Given the description of an element on the screen output the (x, y) to click on. 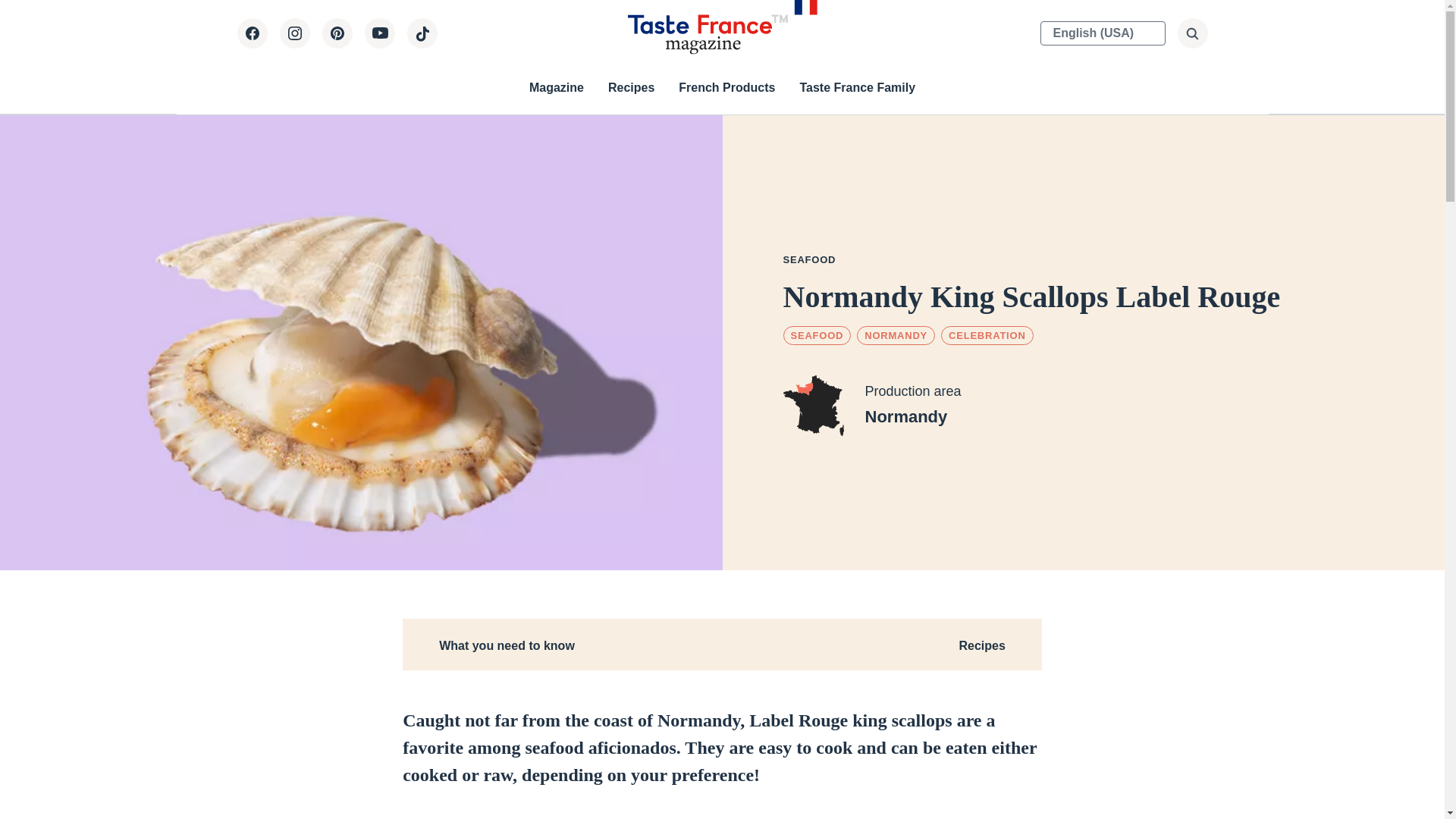
French Products (726, 87)
SEAFOOD (809, 257)
CELEBRATION (986, 334)
NORMANDY (895, 334)
Taste France Family (857, 87)
Recipes (630, 87)
Search (990, 46)
Recipes (981, 644)
What you need to know (507, 644)
Magazine (556, 87)
